Given the description of an element on the screen output the (x, y) to click on. 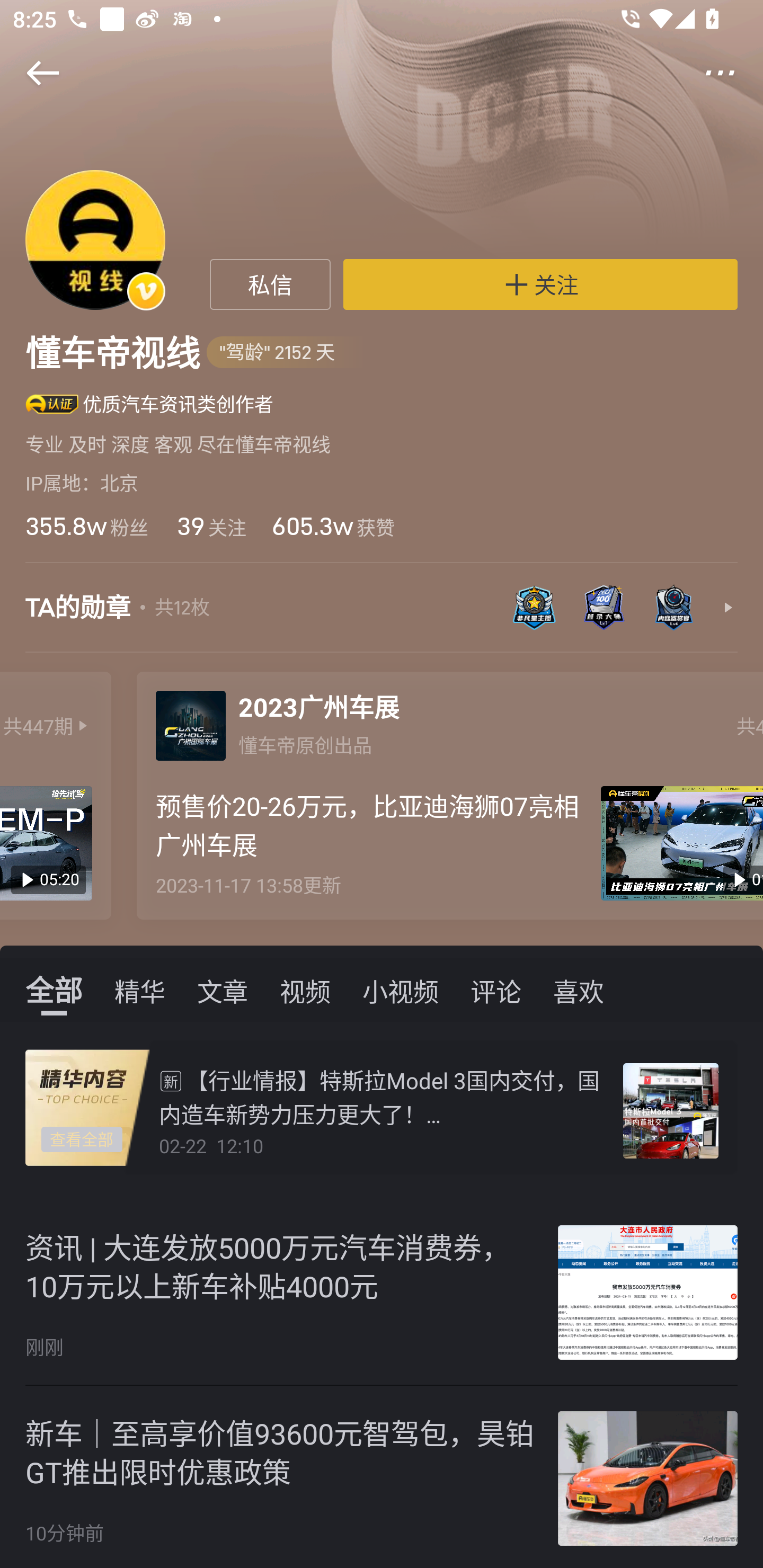
 (30, 72)
 (732, 72)
私信 (269, 284)
 关注 (540, 284)
"驾龄" 2152 天 (286, 352)
355.8w 粉丝 (86, 526)
39 关注 (209, 526)
605.3w 获赞 (332, 526)
TA的勋章 共12枚  (381, 616)
2023广州车展 懂车帝原创出品 共4期 (449, 722)
全部 (53, 990)
精华 (139, 990)
文章 (221, 990)
视频 (305, 990)
小视频 (400, 990)
评论 (495, 990)
喜欢 (578, 990)
查看全部 (81, 1139)
资讯 | 大连发放5000万元汽车消费券，10万元以上新车补贴4000元 刚刚 (381, 1292)
新车｜至高享价值93600元智驾包，昊铂GT推出限时优惠政策 10分钟前 (381, 1477)
